Given the description of an element on the screen output the (x, y) to click on. 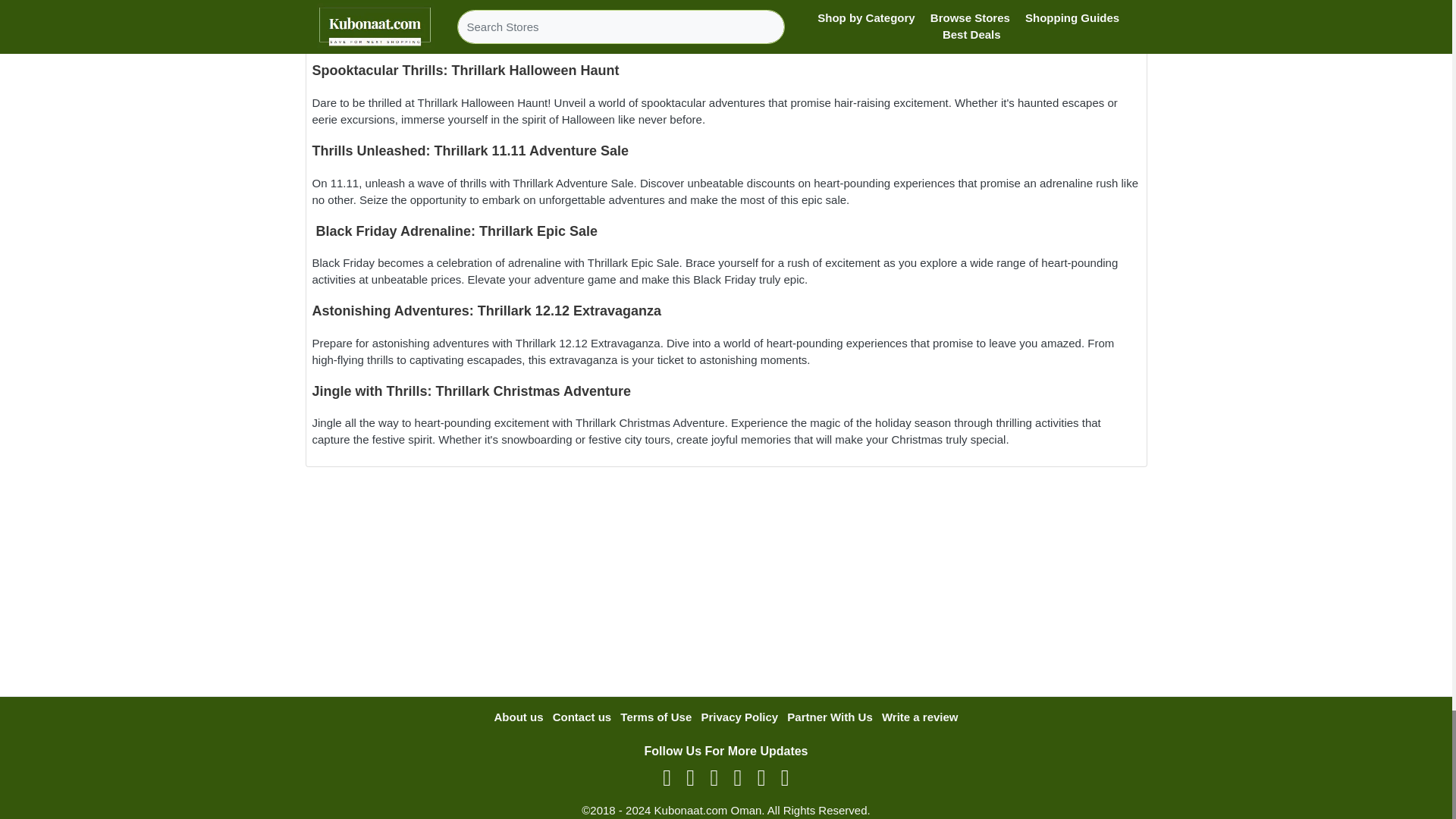
About us (518, 716)
Contact us (582, 716)
Terms of Use (655, 716)
